Given the description of an element on the screen output the (x, y) to click on. 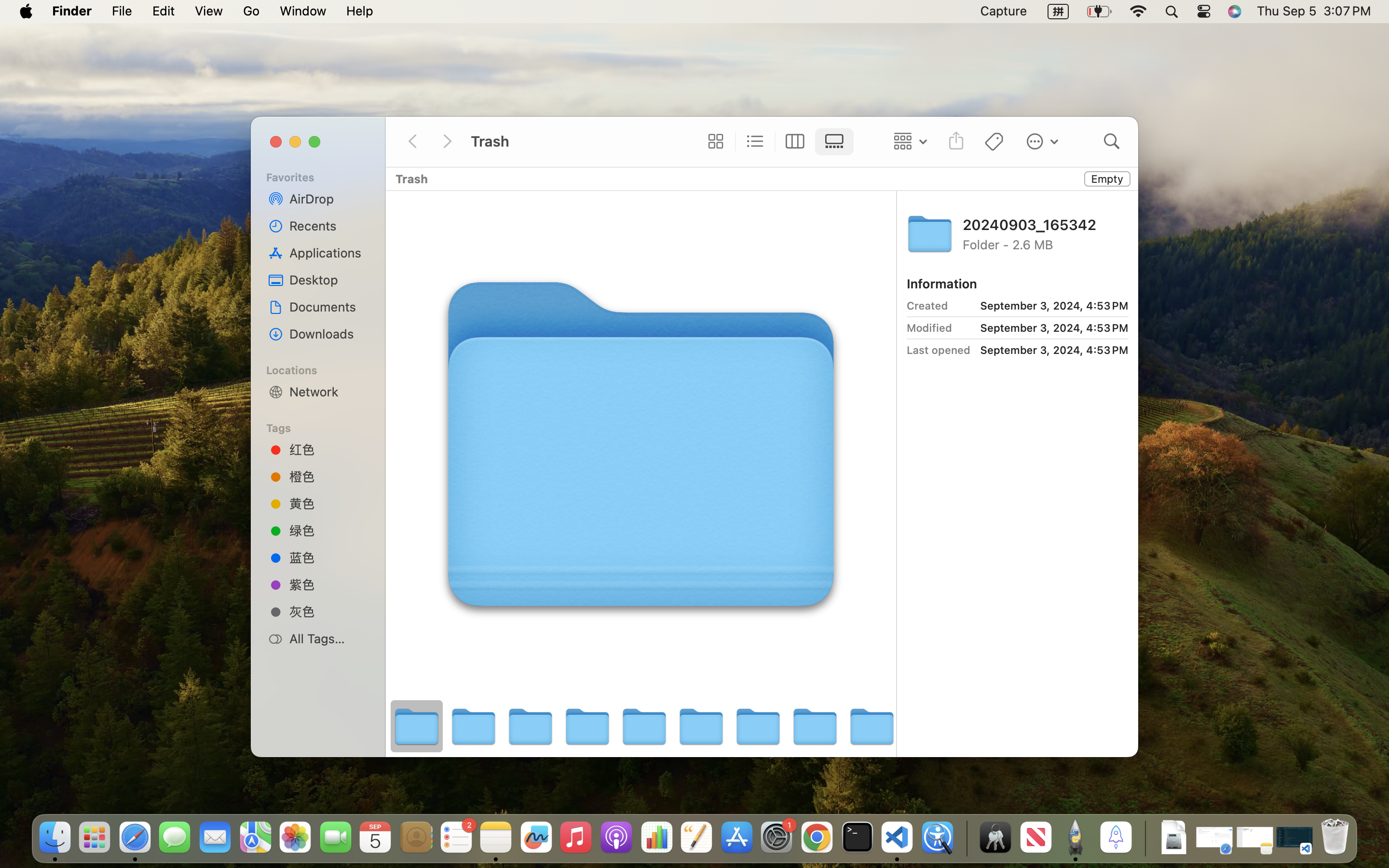
Documents Element type: AXStaticText (328, 306)
Desktop Element type: AXStaticText (328, 279)
All Tags… Element type: AXStaticText (328, 638)
灰色 Element type: AXStaticText (328, 611)
Modified Element type: AXStaticText (928, 327)
